Given the description of an element on the screen output the (x, y) to click on. 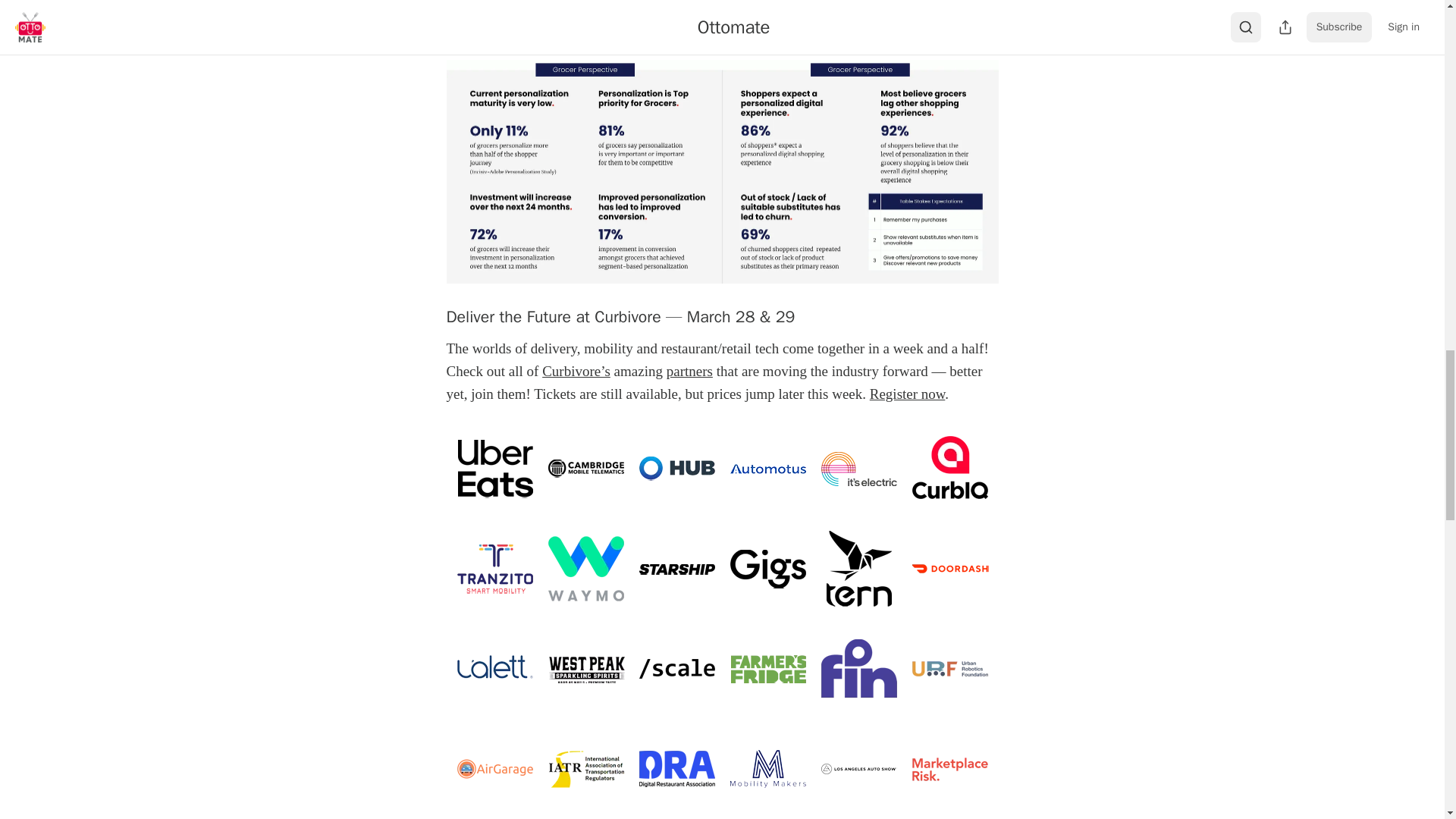
partners (689, 371)
Register now (906, 393)
